Given the description of an element on the screen output the (x, y) to click on. 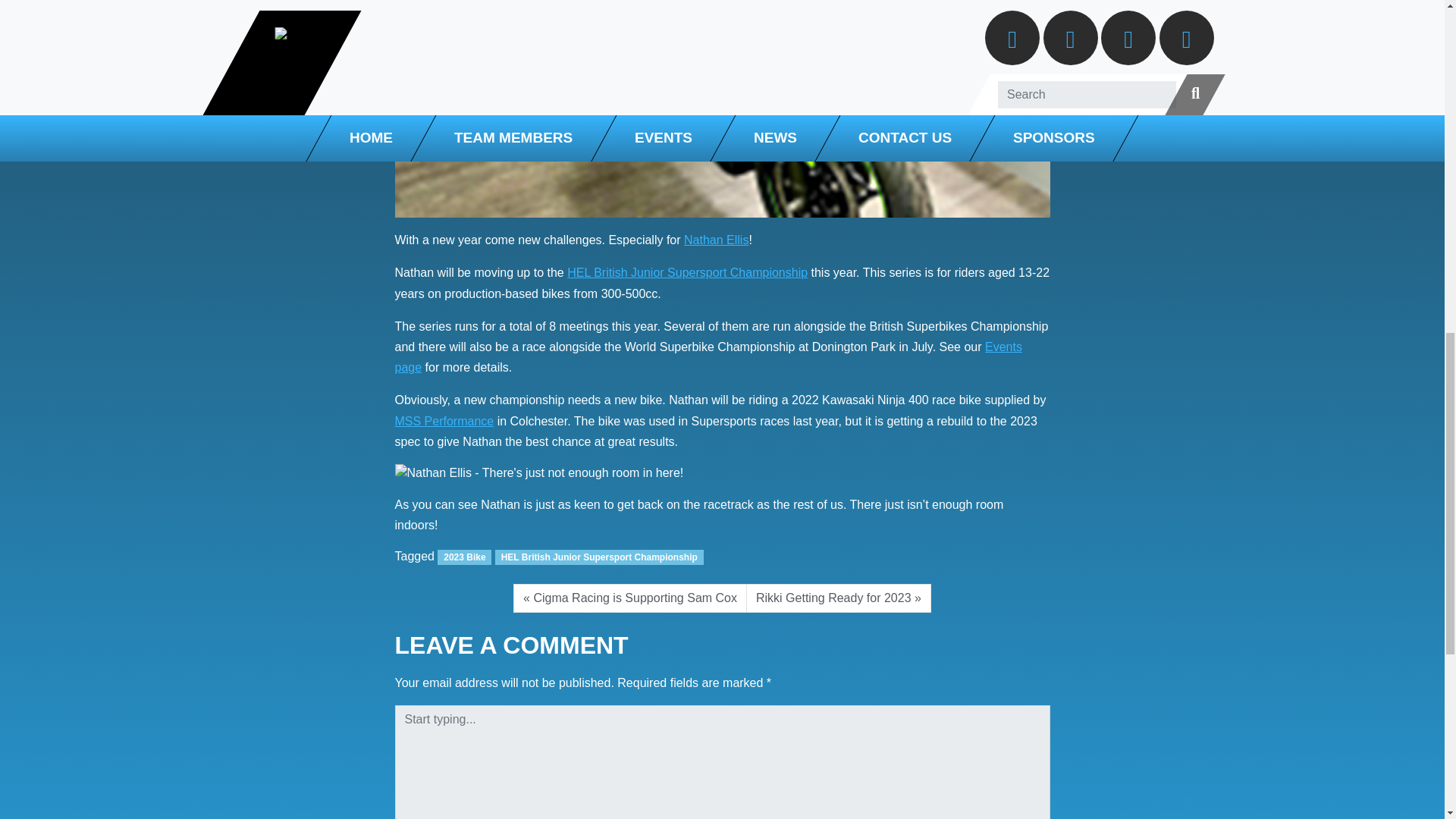
2023 Bike (465, 557)
HEL British Junior Supersport Championship (599, 557)
Events page (708, 356)
MSS Performance (443, 420)
Nathan Ellis (716, 239)
Rikki Getting Ready for 2023 (838, 597)
Cigma Racing is Supporting Sam Cox (629, 597)
HEL British Junior Supersport Championship (687, 272)
